Given the description of an element on the screen output the (x, y) to click on. 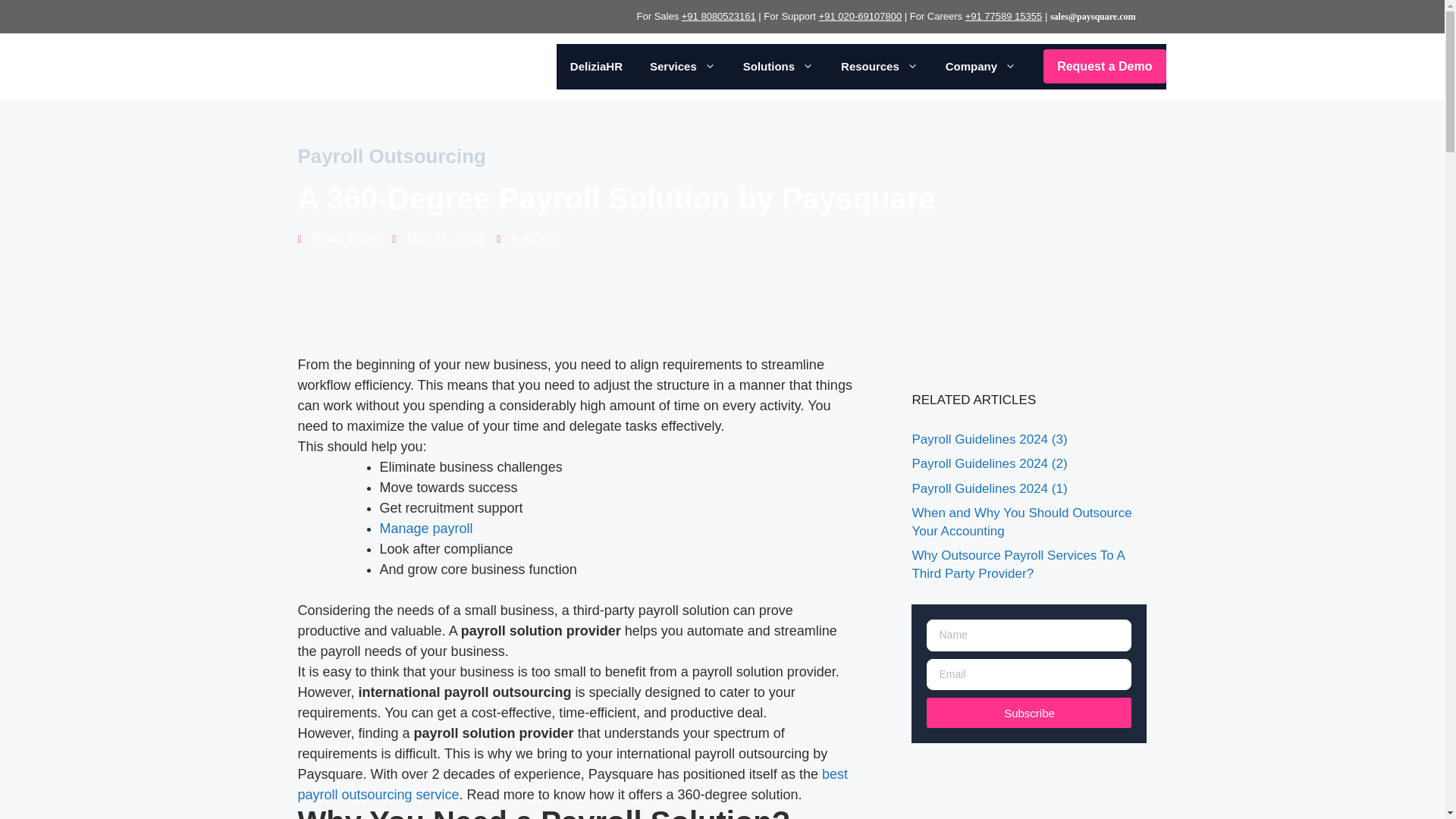
Request a Demo (1104, 66)
May 10, 2021 (437, 239)
Services (682, 66)
Company (980, 66)
Solutions (778, 66)
DeliziaHR (596, 66)
Resources (879, 66)
Ritika Bhise (338, 239)
Payroll Outsourcing (391, 155)
